Given the description of an element on the screen output the (x, y) to click on. 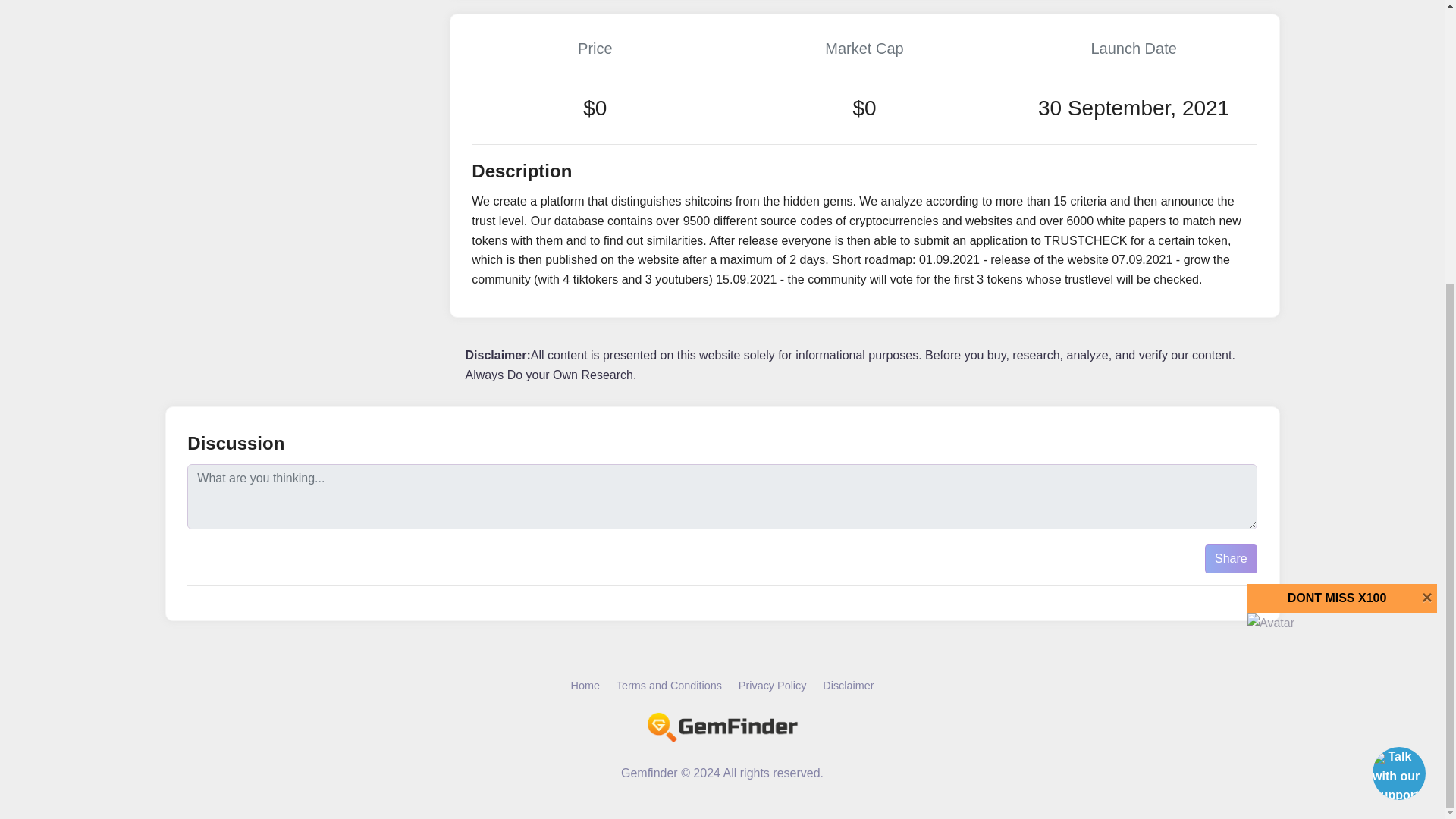
Home (584, 685)
Share (1231, 558)
Terms and Conditions (668, 685)
Talk with our Support. (1397, 347)
Privacy Policy (772, 685)
Disclaimer (847, 685)
